Given the description of an element on the screen output the (x, y) to click on. 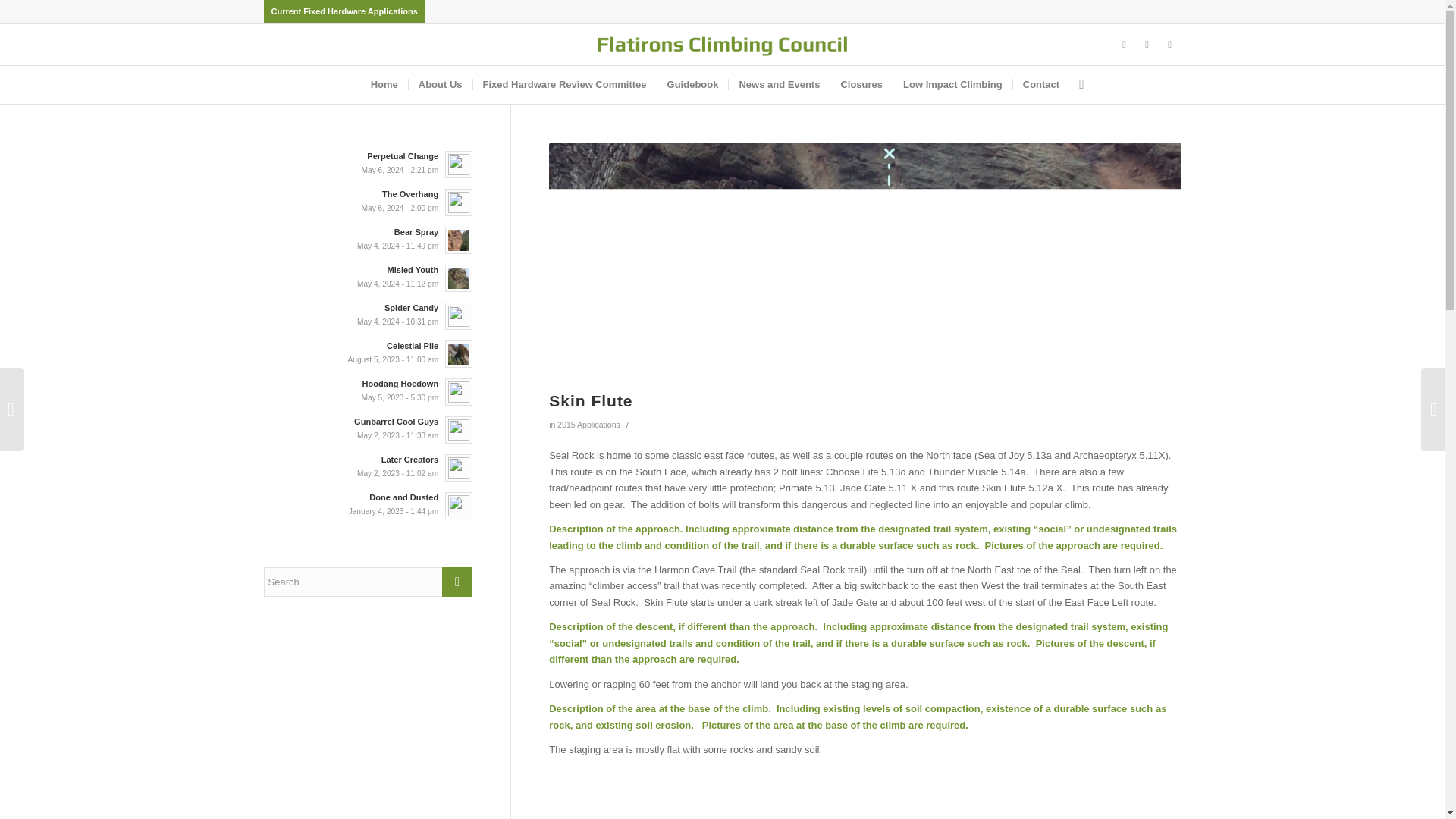
Mail (1169, 44)
Fixed Hardware Review Committee (563, 85)
Perpetual Change (368, 163)
The Overhang (368, 200)
Current Fixed Hardware Applications (343, 11)
Permanent Link: Skin Flute (589, 400)
Misled Youth (368, 276)
About Us (439, 85)
Home (384, 85)
Instagram (1146, 44)
Bear Spray (368, 238)
Facebook (1124, 44)
Guidebook (692, 85)
